Given the description of an element on the screen output the (x, y) to click on. 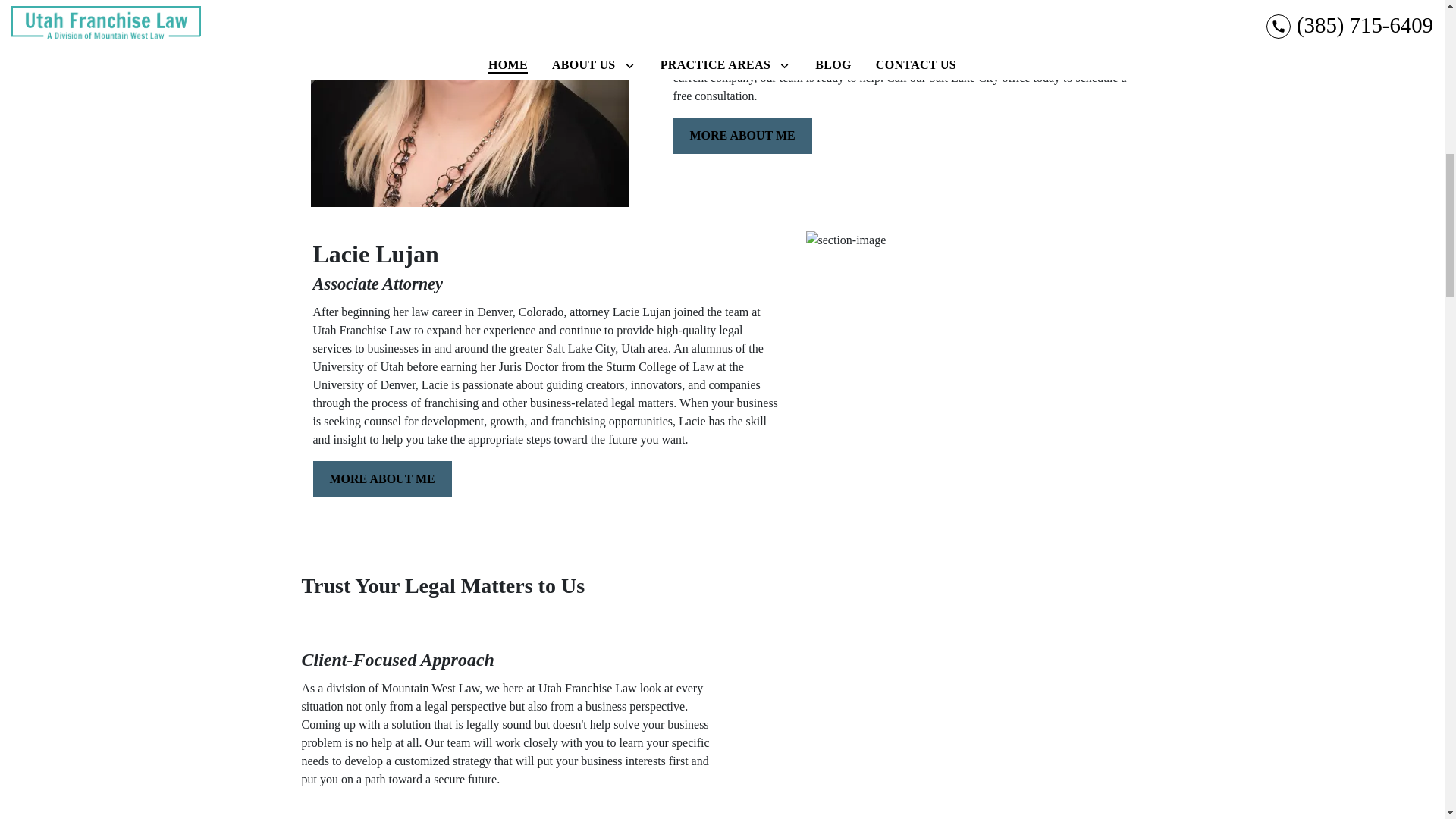
MORE ABOUT ME (382, 479)
MORE ABOUT ME (742, 135)
